Given the description of an element on the screen output the (x, y) to click on. 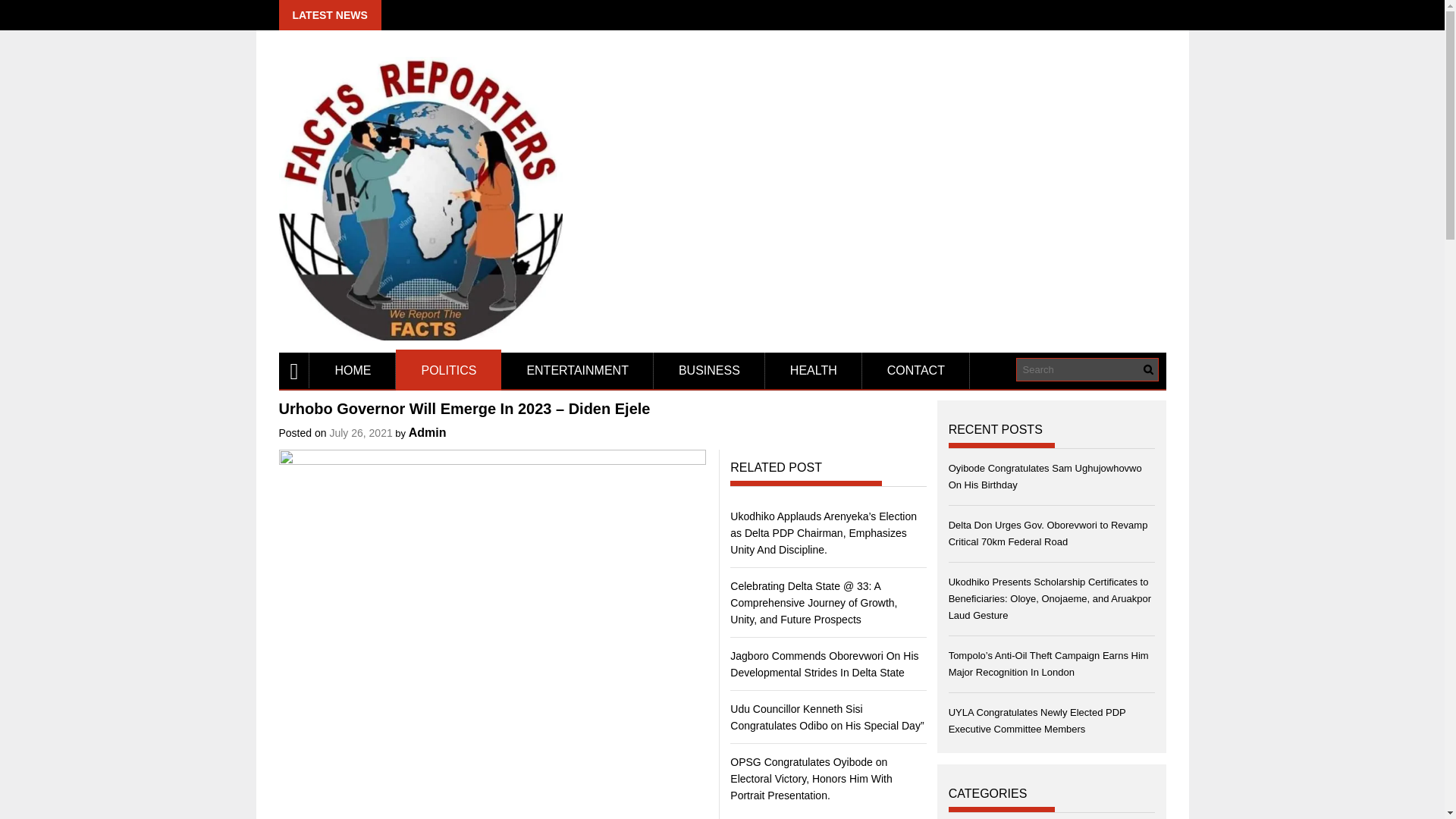
ENTERTAINMENT (576, 370)
CONTACT (915, 370)
Admin (427, 431)
Oyibode Congratulates Sam Ughujowhovwo On His Birthday (1045, 476)
HOME (352, 370)
BUSINESS (709, 370)
